Given the description of an element on the screen output the (x, y) to click on. 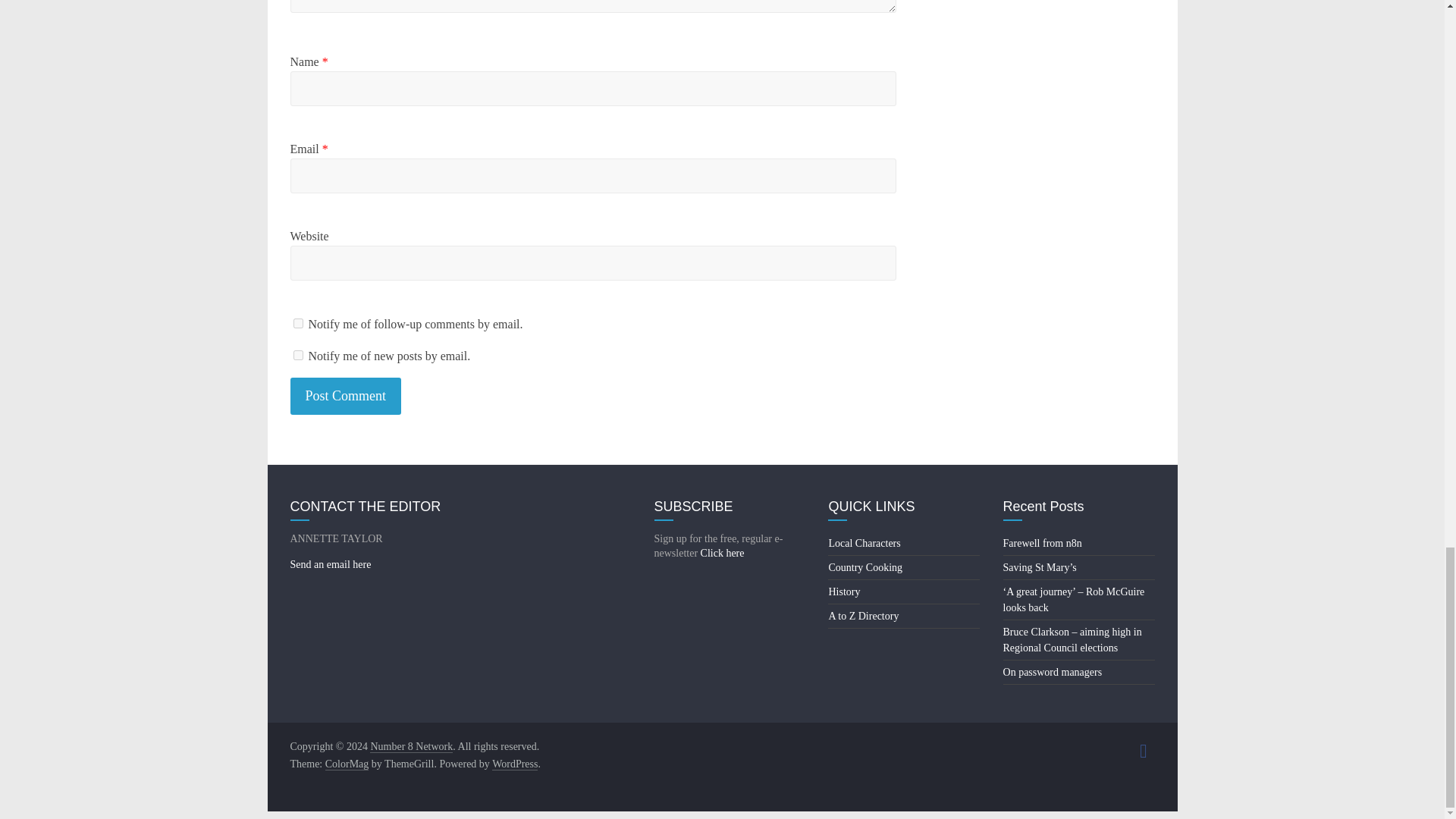
subscribe (297, 323)
subscribe (297, 355)
Post Comment (345, 395)
